Given the description of an element on the screen output the (x, y) to click on. 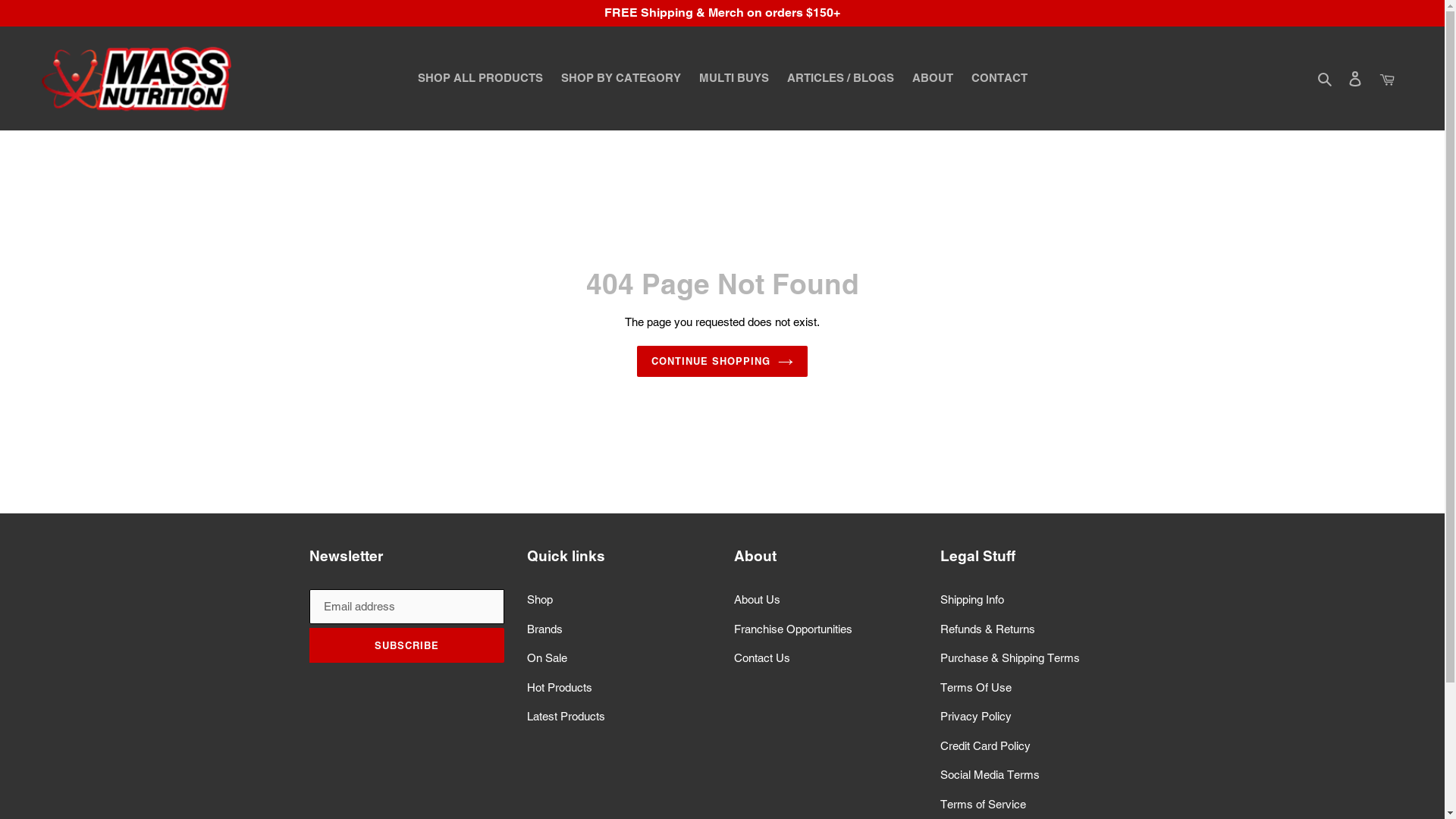
CONTINUE SHOPPING Element type: text (722, 361)
MULTI BUYS Element type: text (733, 78)
Search Element type: text (1325, 78)
Shop Element type: text (539, 599)
Latest Products Element type: text (566, 715)
SHOP BY CATEGORY Element type: text (620, 78)
Privacy Policy Element type: text (975, 715)
Credit Card Policy Element type: text (985, 745)
Purchase & Shipping Terms Element type: text (1009, 657)
Log in Element type: text (1355, 78)
CONTACT Element type: text (998, 78)
On Sale Element type: text (547, 657)
ABOUT Element type: text (931, 78)
Refunds & Returns Element type: text (987, 628)
SUBSCRIBE Element type: text (407, 644)
Brands Element type: text (544, 628)
Terms Of Use Element type: text (975, 686)
SHOP ALL PRODUCTS Element type: text (479, 78)
Franchise Opportunities Element type: text (793, 628)
Social Media Terms Element type: text (989, 774)
Hot Products Element type: text (559, 686)
ARTICLES / BLOGS Element type: text (840, 78)
About Us Element type: text (757, 599)
Shipping Info Element type: text (972, 599)
Cart Element type: text (1386, 78)
Contact Us Element type: text (762, 657)
Terms of Service Element type: text (983, 803)
